Given the description of an element on the screen output the (x, y) to click on. 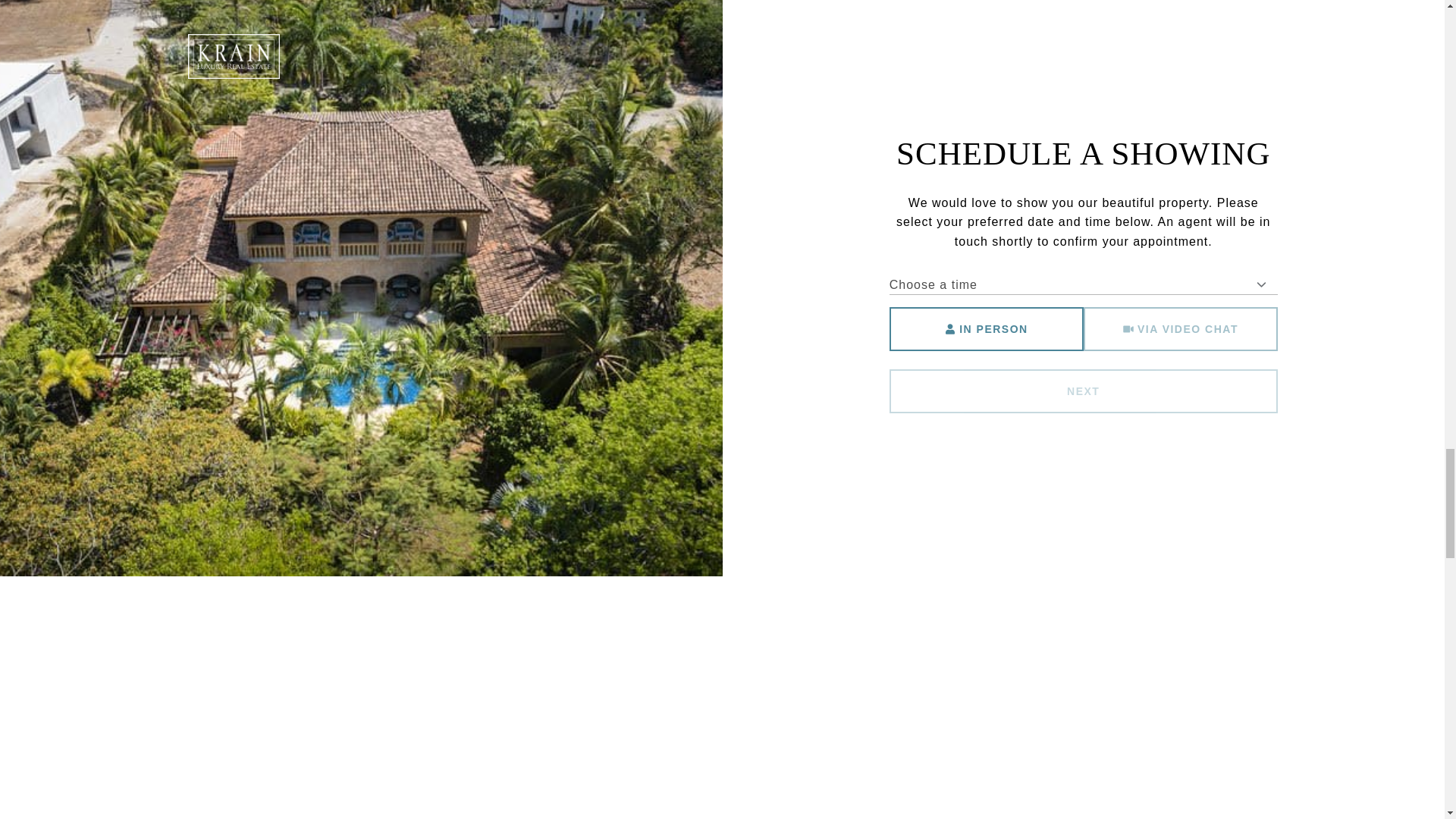
NEXT (1083, 391)
